Given the description of an element on the screen output the (x, y) to click on. 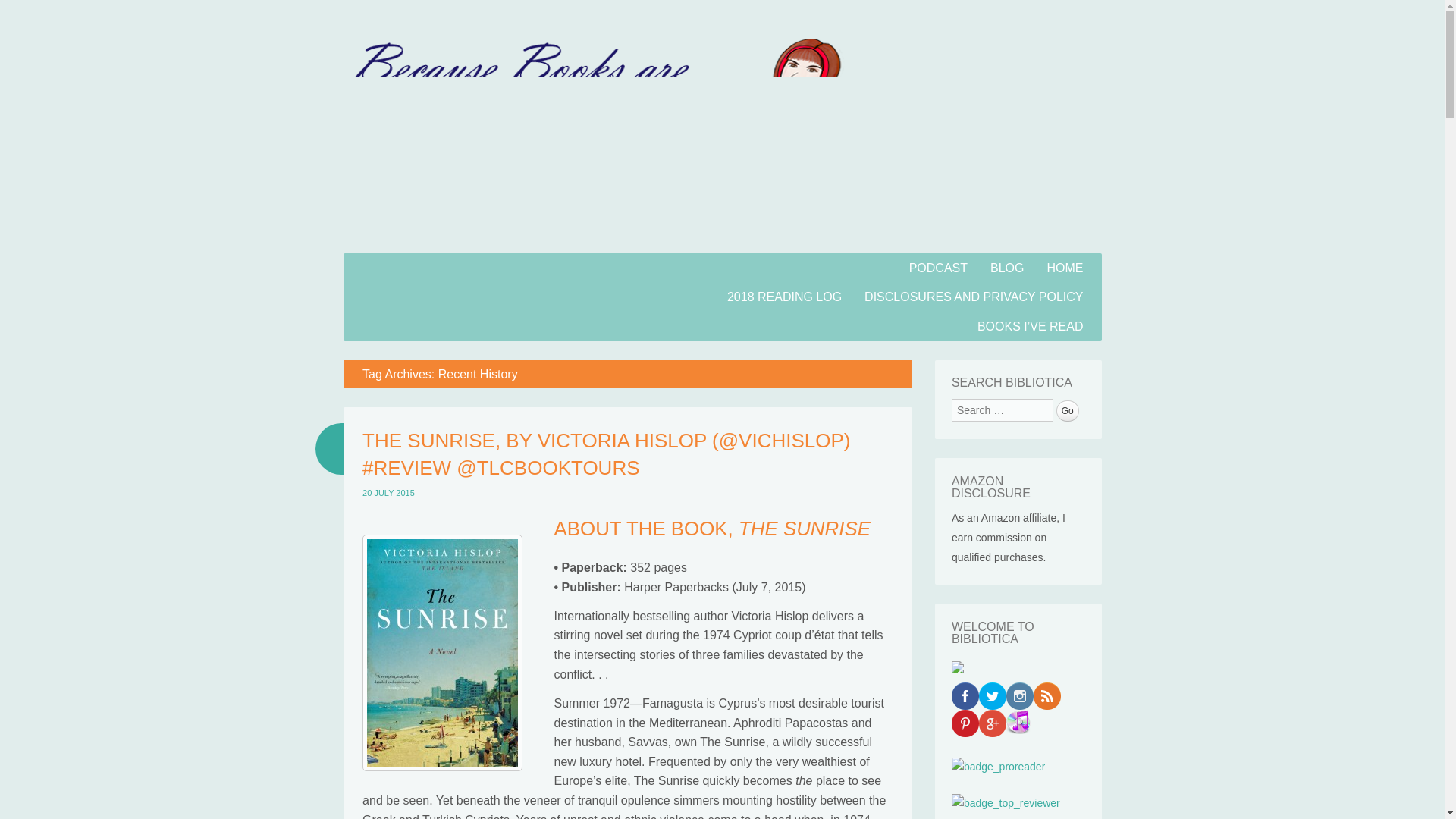
Bibliotica (721, 243)
2018 READING LOG (784, 297)
HOME (1064, 267)
DISCLOSURES AND PRIVACY POLICY (973, 297)
Bibliotica (430, 295)
20 JULY 2015 (388, 492)
Skip to content (382, 262)
Bibliotica (430, 295)
Skip to content (382, 262)
BLOG (1006, 267)
PODCAST (938, 267)
10:00 (388, 492)
Go (1067, 410)
